Given the description of an element on the screen output the (x, y) to click on. 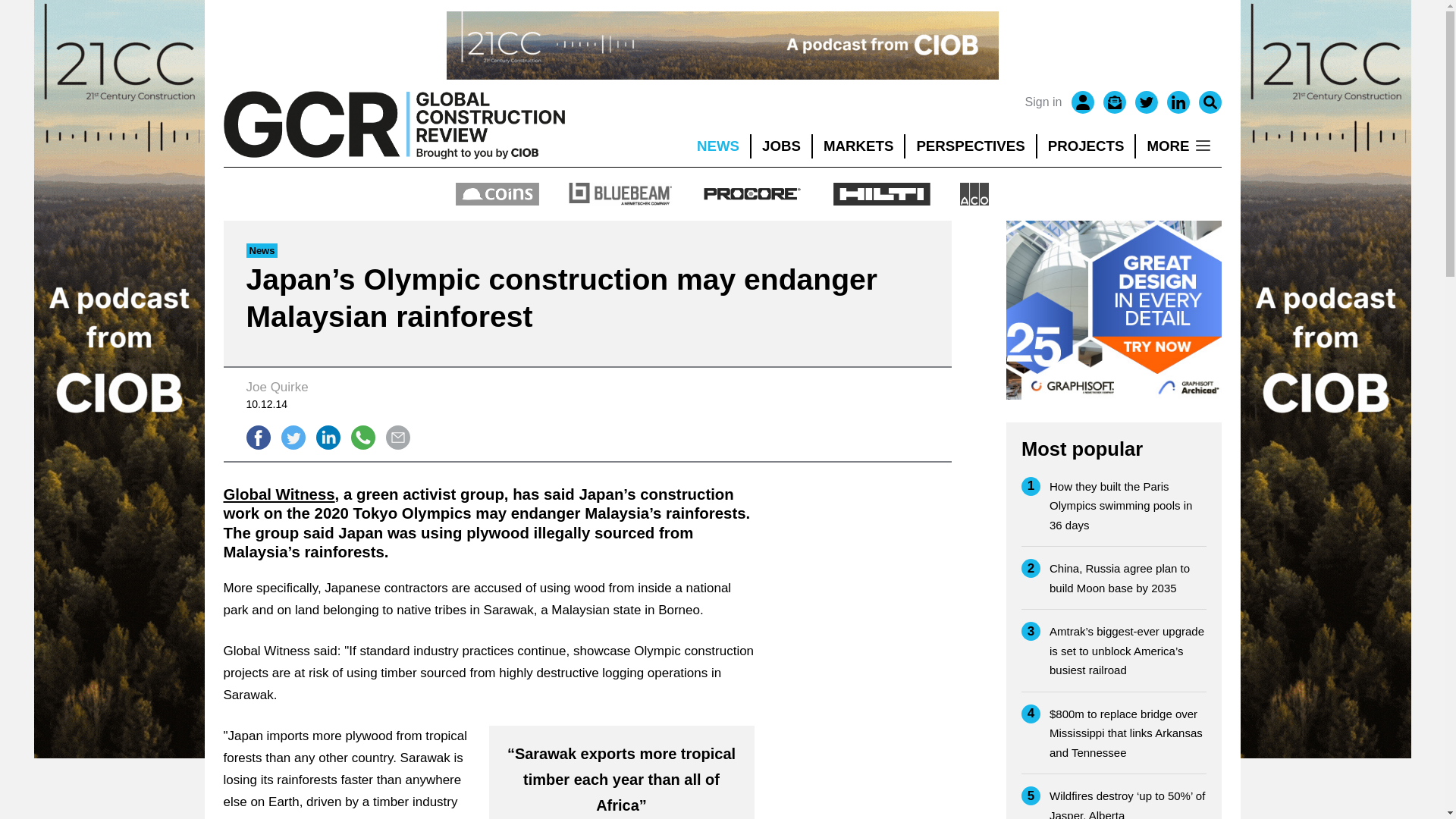
MORE (1178, 146)
Tweet (292, 437)
Share on LinkedIn (327, 437)
PERSPECTIVES (970, 146)
Sign in (1043, 102)
MARKETS (858, 146)
NEWS (717, 146)
Send email (397, 437)
JOBS (780, 146)
Share on Facebook (257, 437)
PROJECTS (1085, 146)
Share on WhatsApp (362, 437)
